Given the description of an element on the screen output the (x, y) to click on. 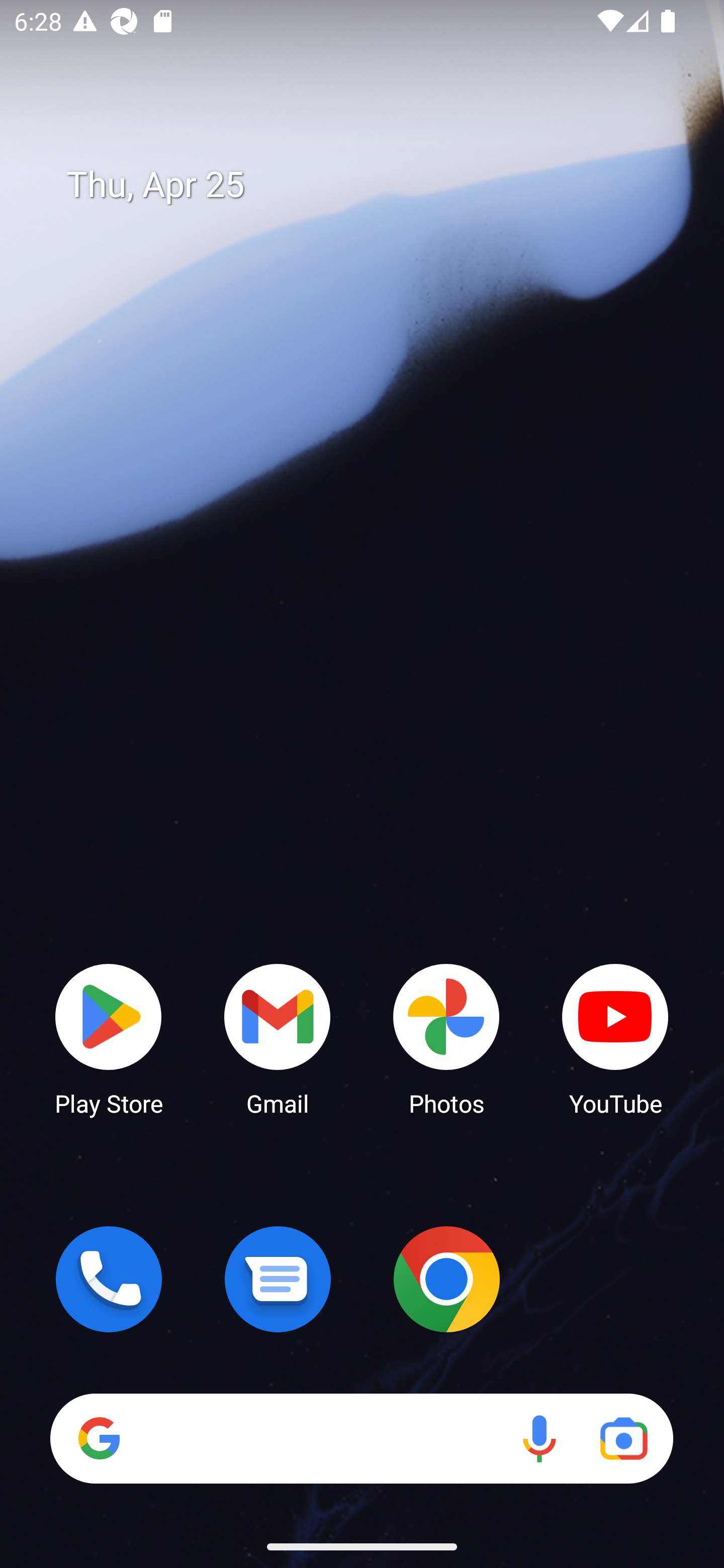
Thu, Apr 25 (375, 184)
Play Store (108, 1038)
Gmail (277, 1038)
Photos (445, 1038)
YouTube (615, 1038)
Phone (108, 1279)
Messages (277, 1279)
Chrome (446, 1279)
Search Voice search Google Lens (361, 1438)
Voice search (539, 1438)
Google Lens (623, 1438)
